Given the description of an element on the screen output the (x, y) to click on. 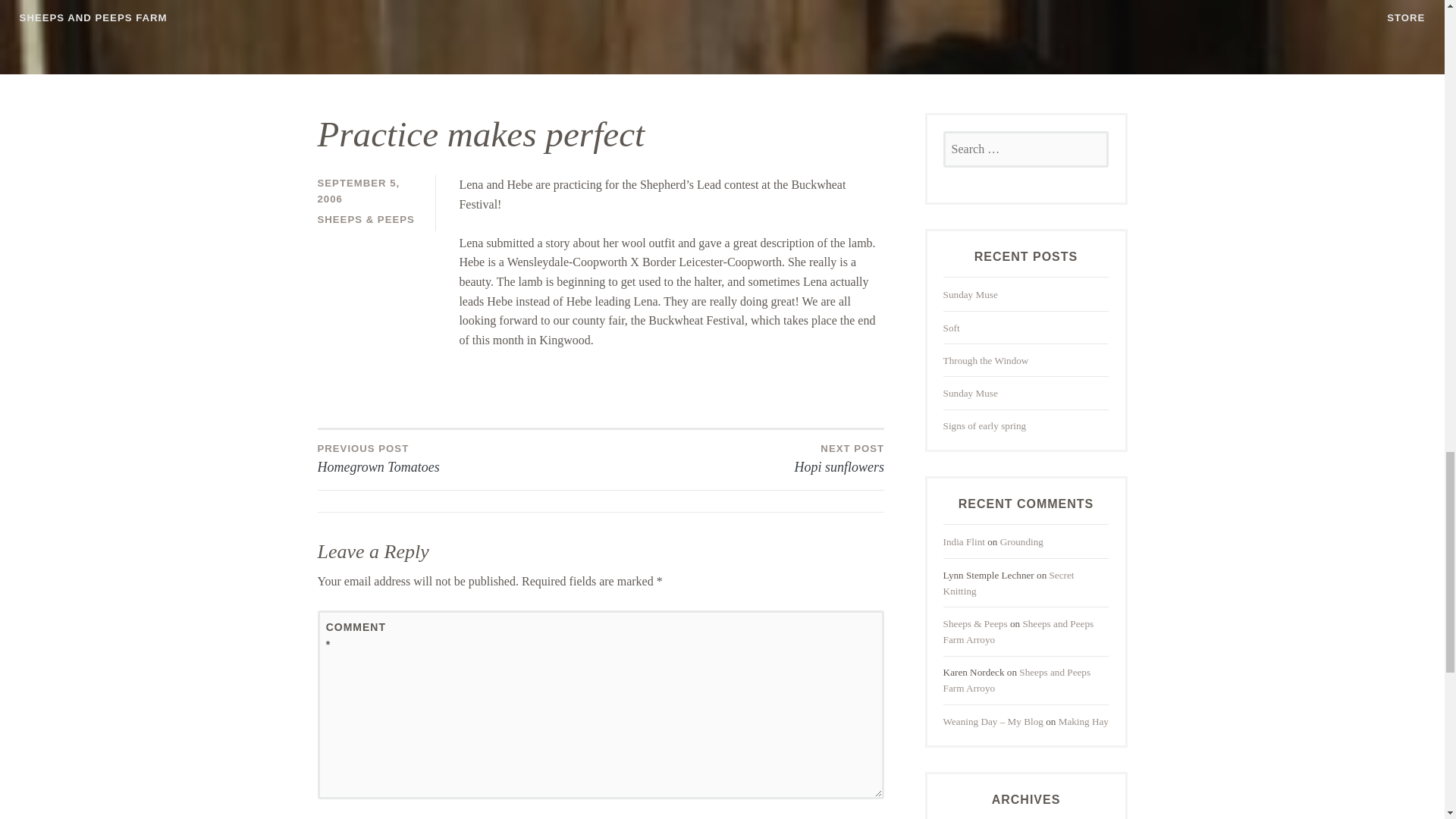
SEPTEMBER 5, 2006 (357, 190)
Through the Window (986, 360)
Making Hay (1083, 721)
Sheeps and Peeps Farm Arroyo (1016, 679)
Grounding (741, 457)
Sunday Muse (458, 457)
India Flint (1021, 541)
Sunday Muse (970, 392)
Soft (964, 541)
Signs of early spring (970, 294)
Secret Knitting (951, 327)
Sheeps and Peeps Farm Arroyo (984, 425)
